Given the description of an element on the screen output the (x, y) to click on. 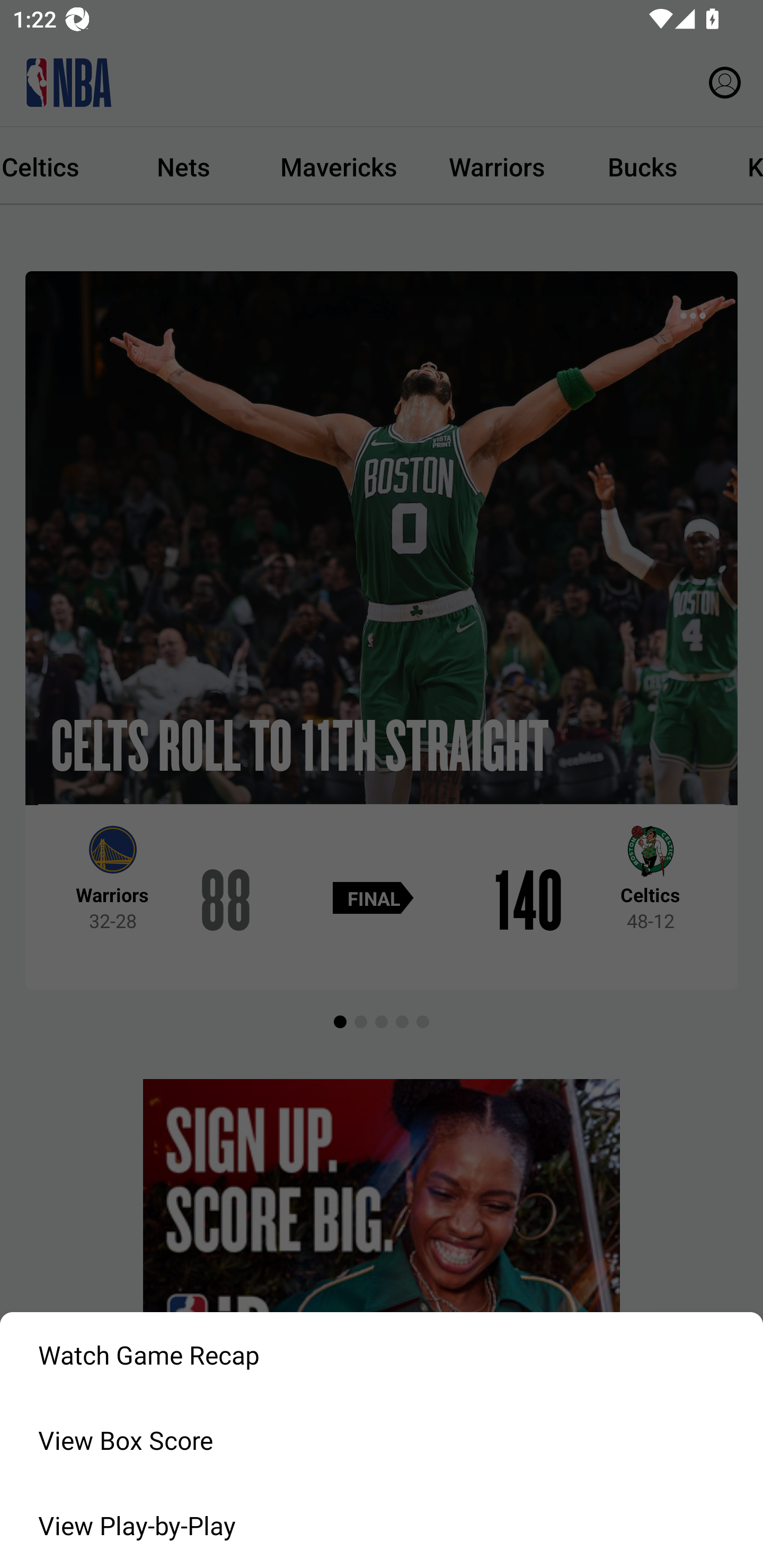
Watch Game Recap (381, 1354)
View Box Score (381, 1440)
View Play-by-Play (381, 1525)
